Given the description of an element on the screen output the (x, y) to click on. 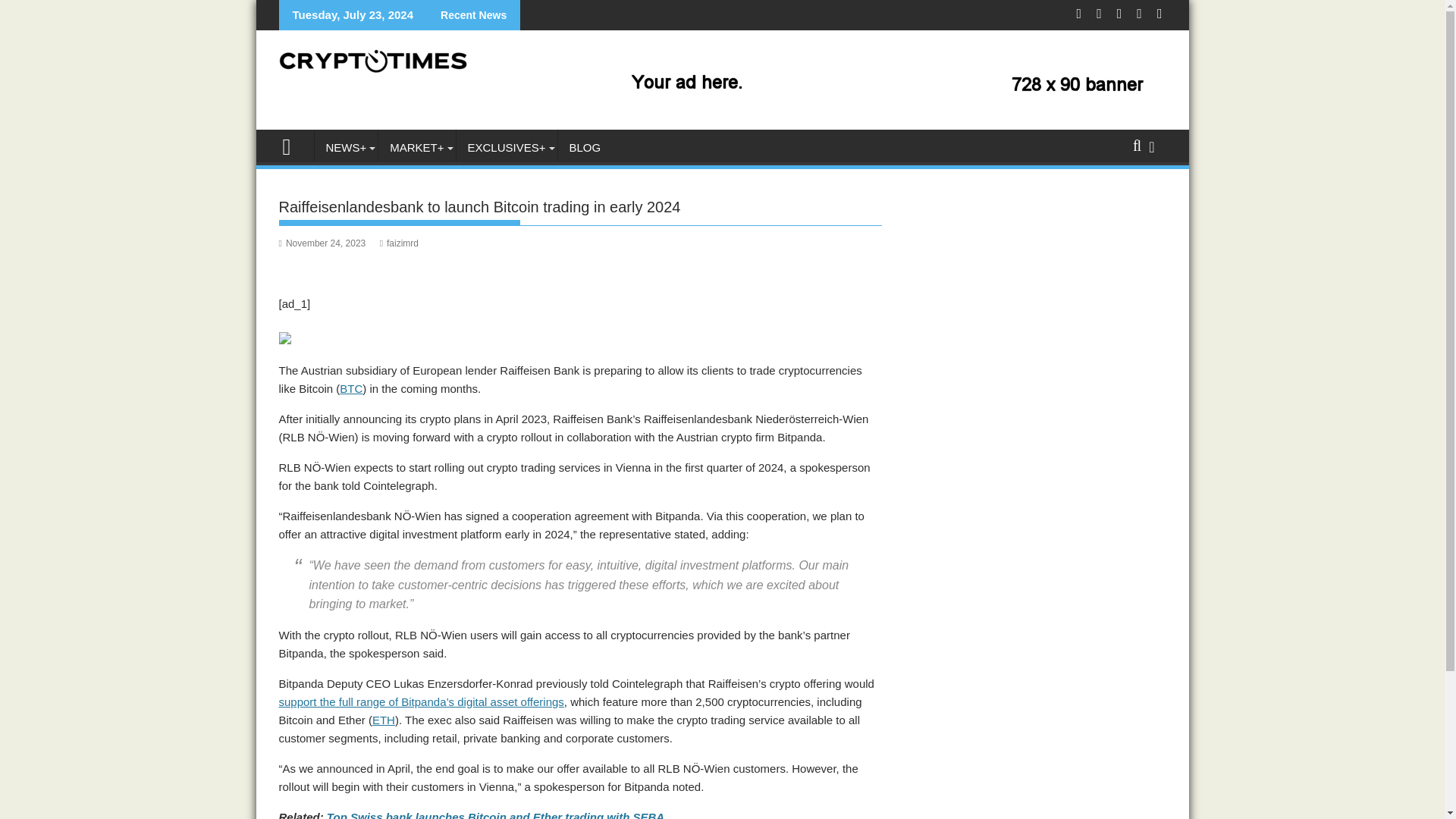
November 24, 2023 (322, 243)
BTC (350, 388)
faizimrd (399, 243)
BLOG (584, 147)
